Given the description of an element on the screen output the (x, y) to click on. 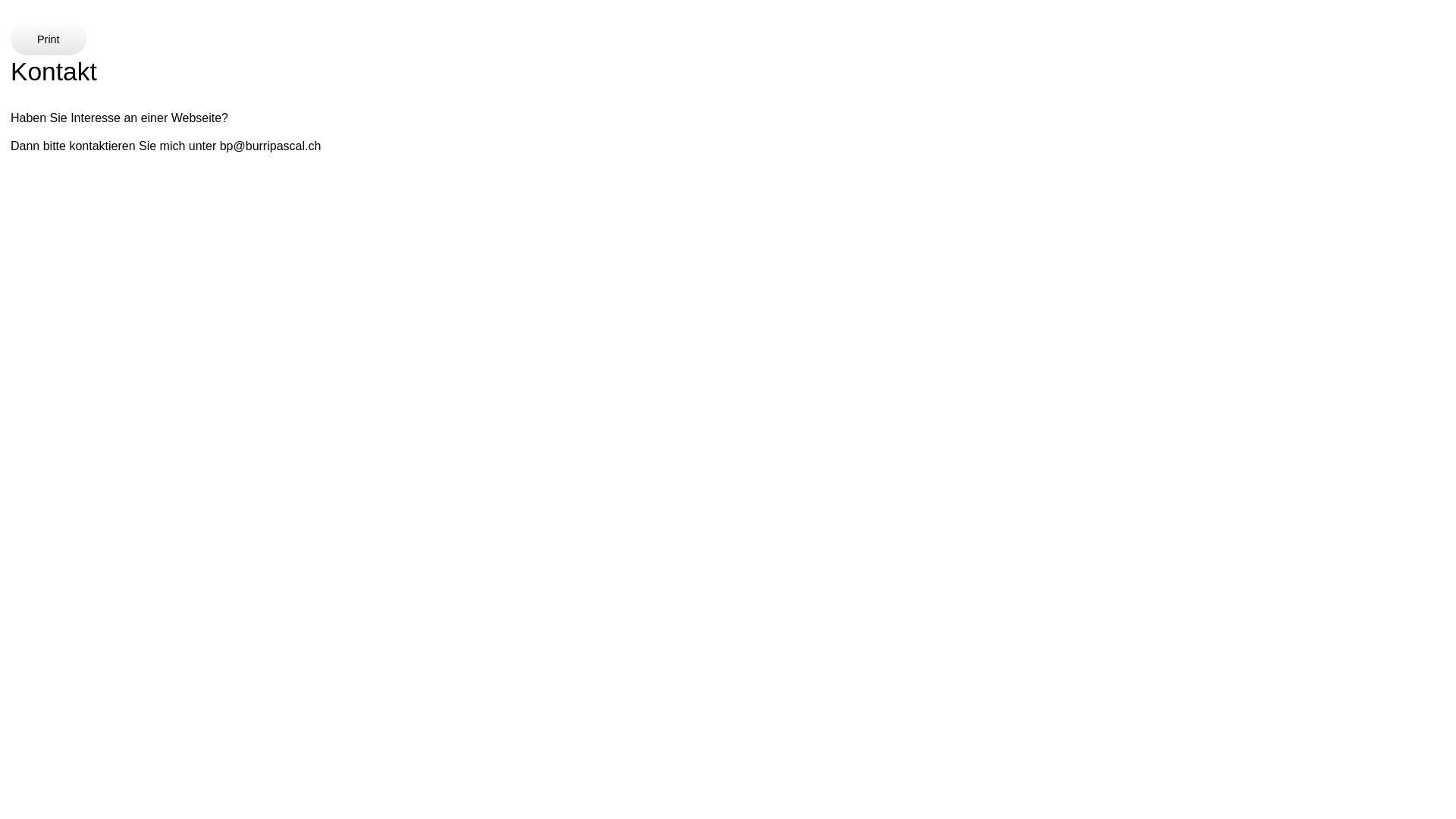
bp@burripascal.ch Element type: text (270, 145)
Print Element type: text (48, 39)
